Given the description of an element on the screen output the (x, y) to click on. 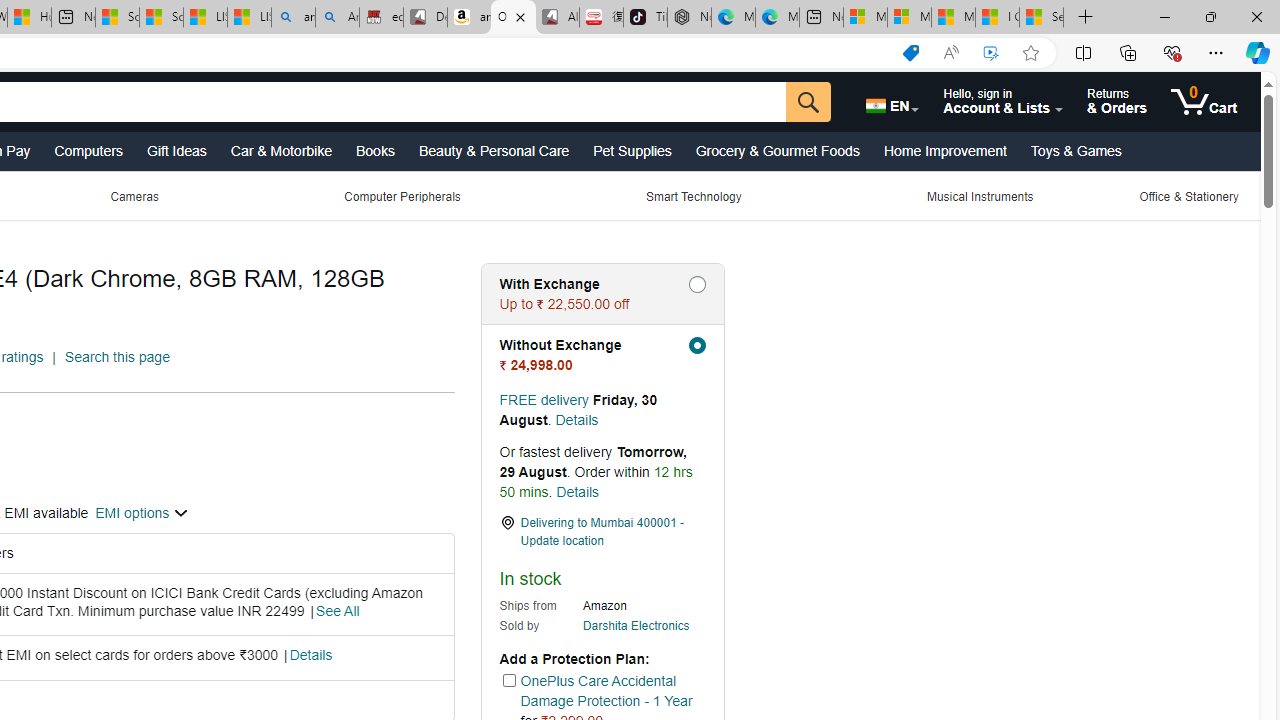
Gift Ideas (176, 150)
Choose a language for shopping. (891, 101)
Shopping in Microsoft Edge (910, 53)
TikTok (644, 17)
Go (808, 101)
Car & Motorbike (280, 150)
